Given the description of an element on the screen output the (x, y) to click on. 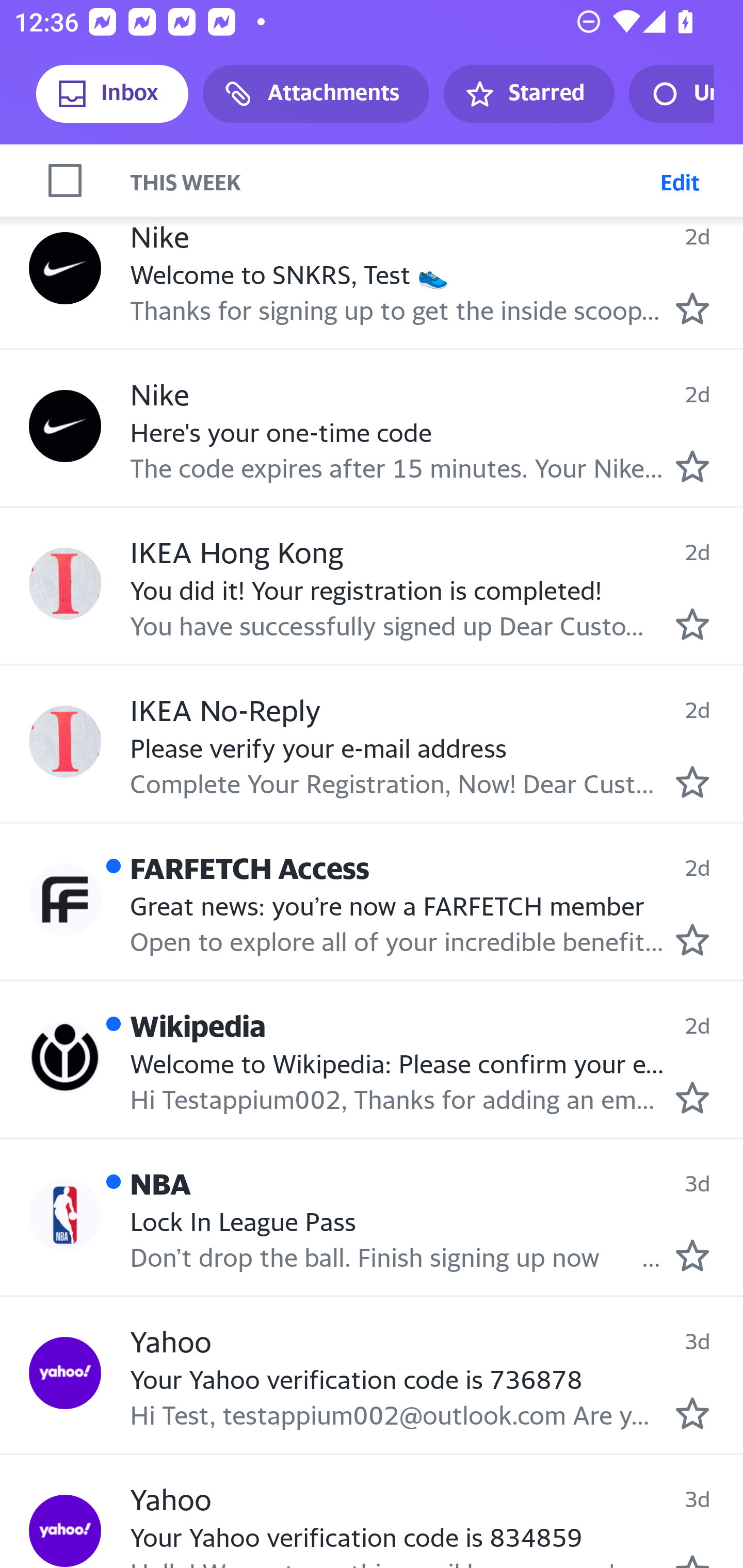
Attachments (315, 93)
Starred (528, 93)
Profile
Nike (64, 268)
Mark as starred. (692, 308)
Profile
Nike (64, 426)
Mark as starred. (692, 466)
Profile
IKEA Hong Kong (64, 583)
Mark as starred. (692, 624)
Profile
IKEA No-Reply (64, 741)
Mark as starred. (692, 781)
Profile
FARFETCH Access (64, 899)
Mark as starred. (692, 939)
Profile
Wikipedia (64, 1056)
Mark as starred. (692, 1097)
Profile
NBA (64, 1215)
Mark as starred. (692, 1255)
Profile
Yahoo (64, 1373)
Mark as starred. (692, 1413)
Profile
Yahoo (64, 1530)
